Given the description of an element on the screen output the (x, y) to click on. 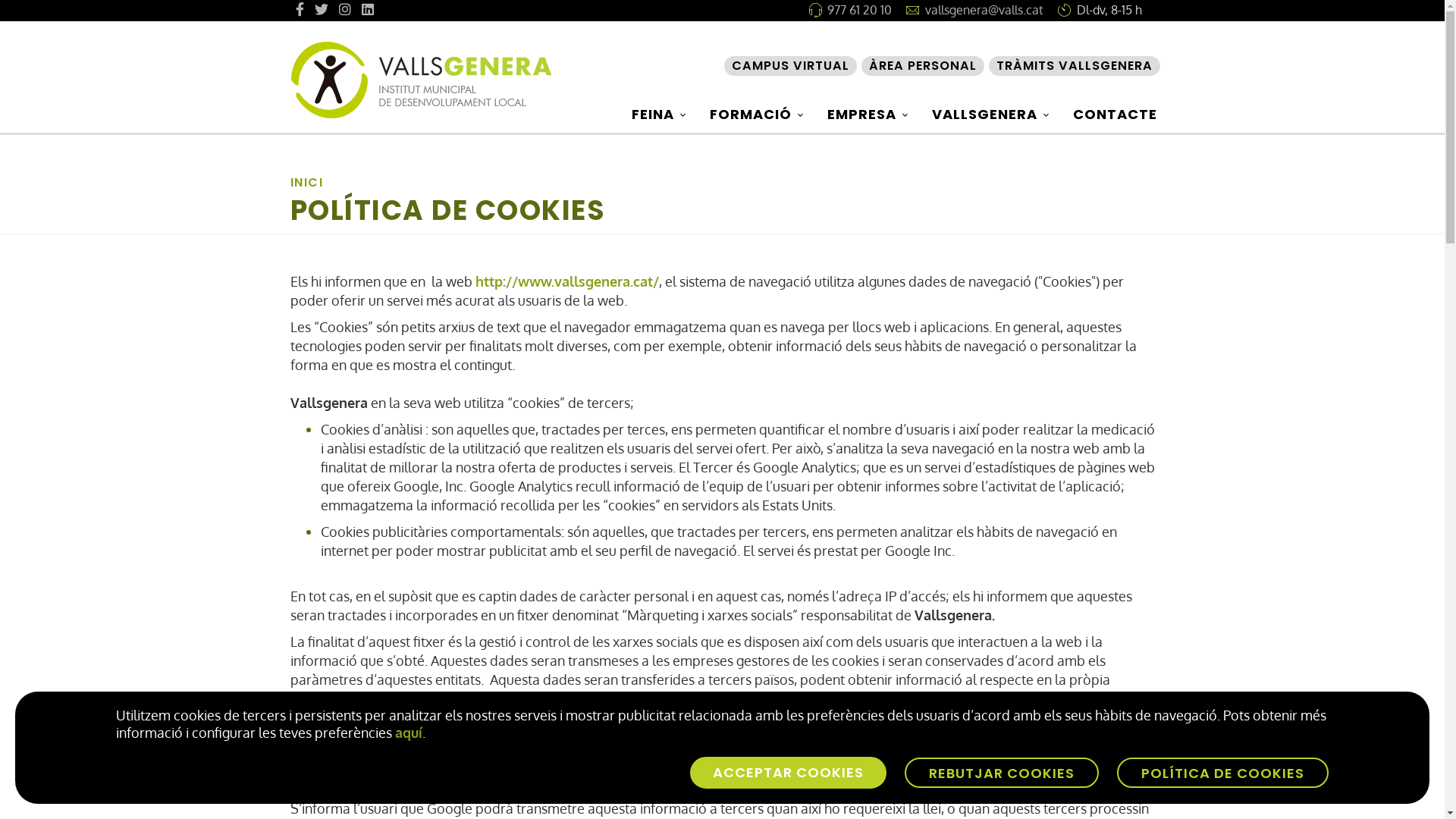
FEINA Element type: text (660, 114)
INICI Element type: text (306, 182)
VALLSGENERA Element type: text (992, 114)
ACCEPTAR COOKIES Element type: text (788, 772)
vallsgenera@valls.cat Element type: text (984, 9)
EMPRESA Element type: text (869, 114)
https://policies.google.com/privacy?hl=es Element type: text (549, 698)
REBUTJAR COOKIES Element type: text (1001, 772)
CAMPUS VIRTUAL Element type: text (789, 65)
http://www.vallsgenera.cat/ Element type: text (566, 281)
977 61 20 10 Element type: text (858, 9)
CONTACTE Element type: text (1114, 114)
vallsgenera@ valls.cat Element type: text (994, 762)
